Given the description of an element on the screen output the (x, y) to click on. 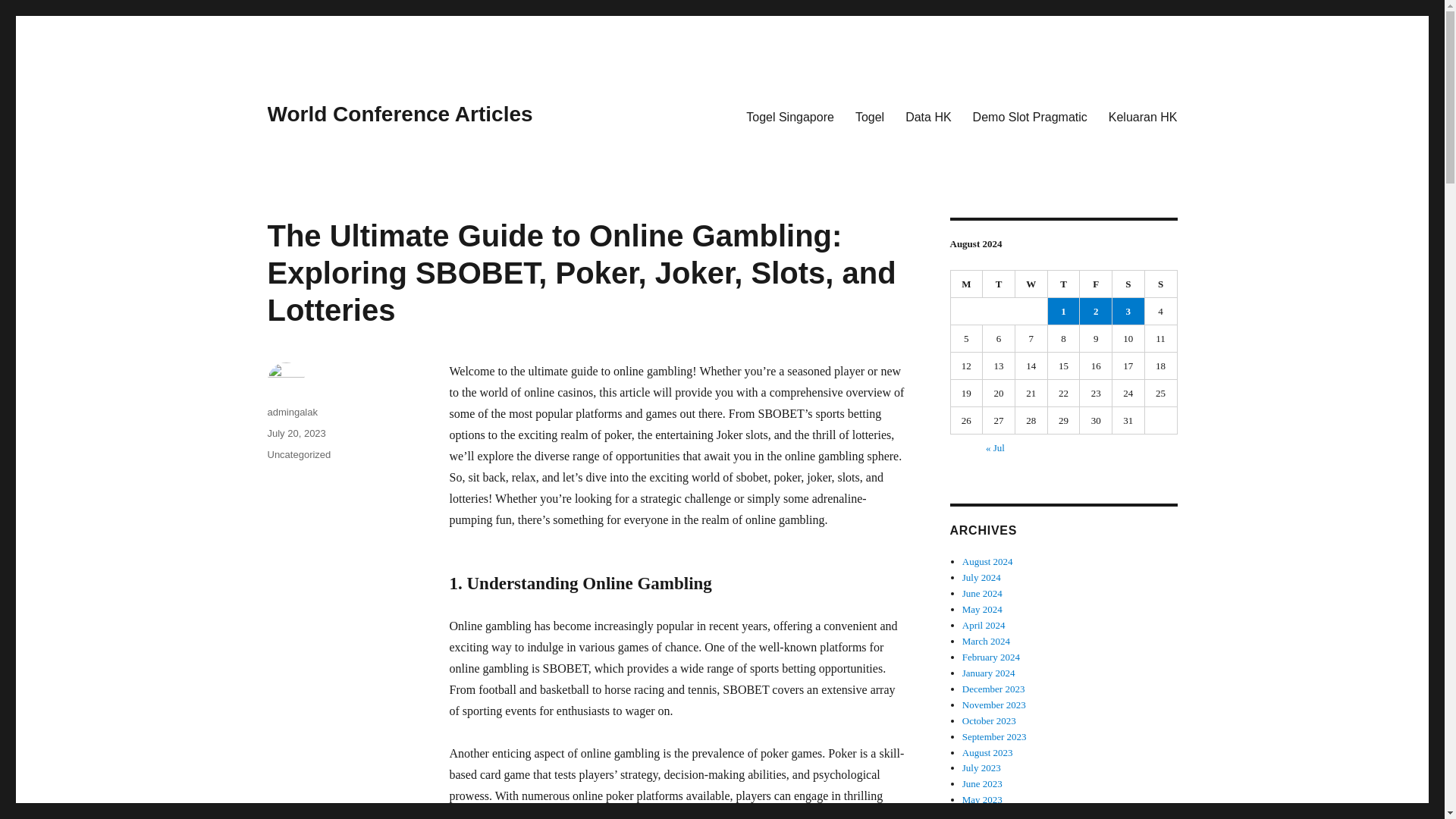
Monday (967, 284)
Tuesday (998, 284)
Thursday (1064, 284)
Data HK (927, 116)
World Conference Articles (399, 114)
Demo Slot Pragmatic (1029, 116)
Friday (1096, 284)
Sunday (1160, 284)
Uncategorized (298, 454)
Wednesday (1031, 284)
Togel (869, 116)
admingalak (291, 411)
July 20, 2023 (295, 432)
Saturday (1128, 284)
Keluaran HK (1142, 116)
